Given the description of an element on the screen output the (x, y) to click on. 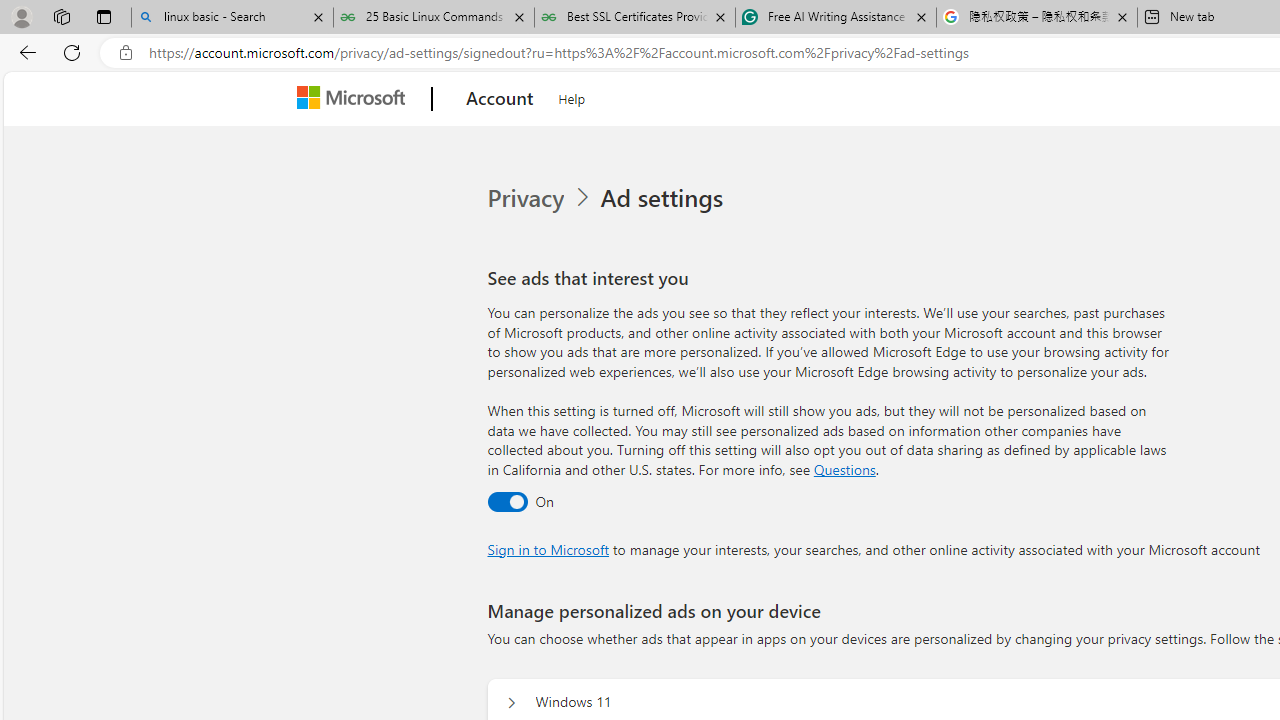
Manage personalized ads on your device Windows 11 (511, 702)
Free AI Writing Assistance for Students | Grammarly (835, 17)
linux basic - Search (231, 17)
Best SSL Certificates Provider in India - GeeksforGeeks (634, 17)
Ad settings toggle (506, 501)
